Given the description of an element on the screen output the (x, y) to click on. 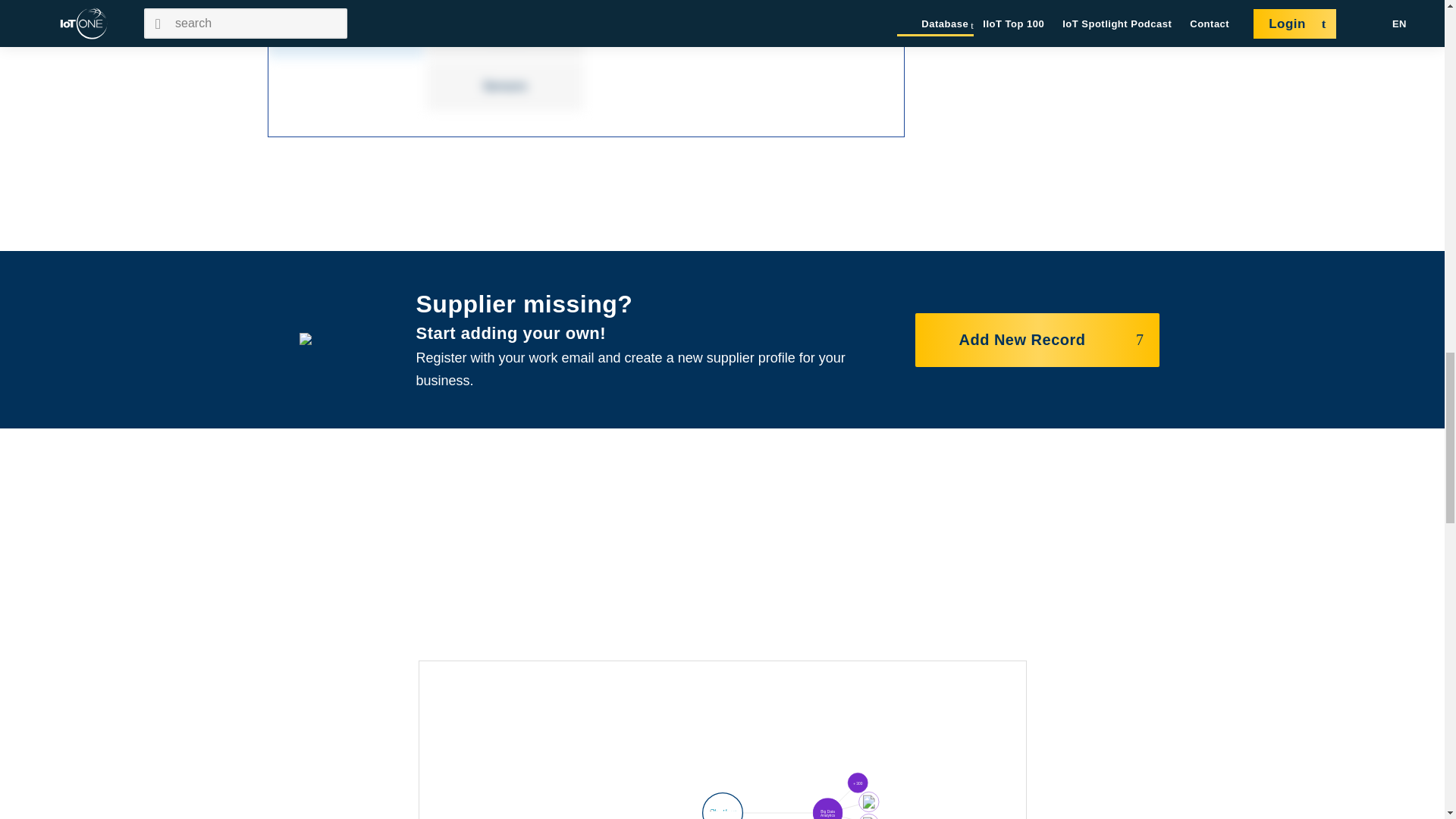
Accenture (857, 782)
Saudi Telecom Company Solutions (868, 802)
iRhythm Technologies (722, 809)
